Given the description of an element on the screen output the (x, y) to click on. 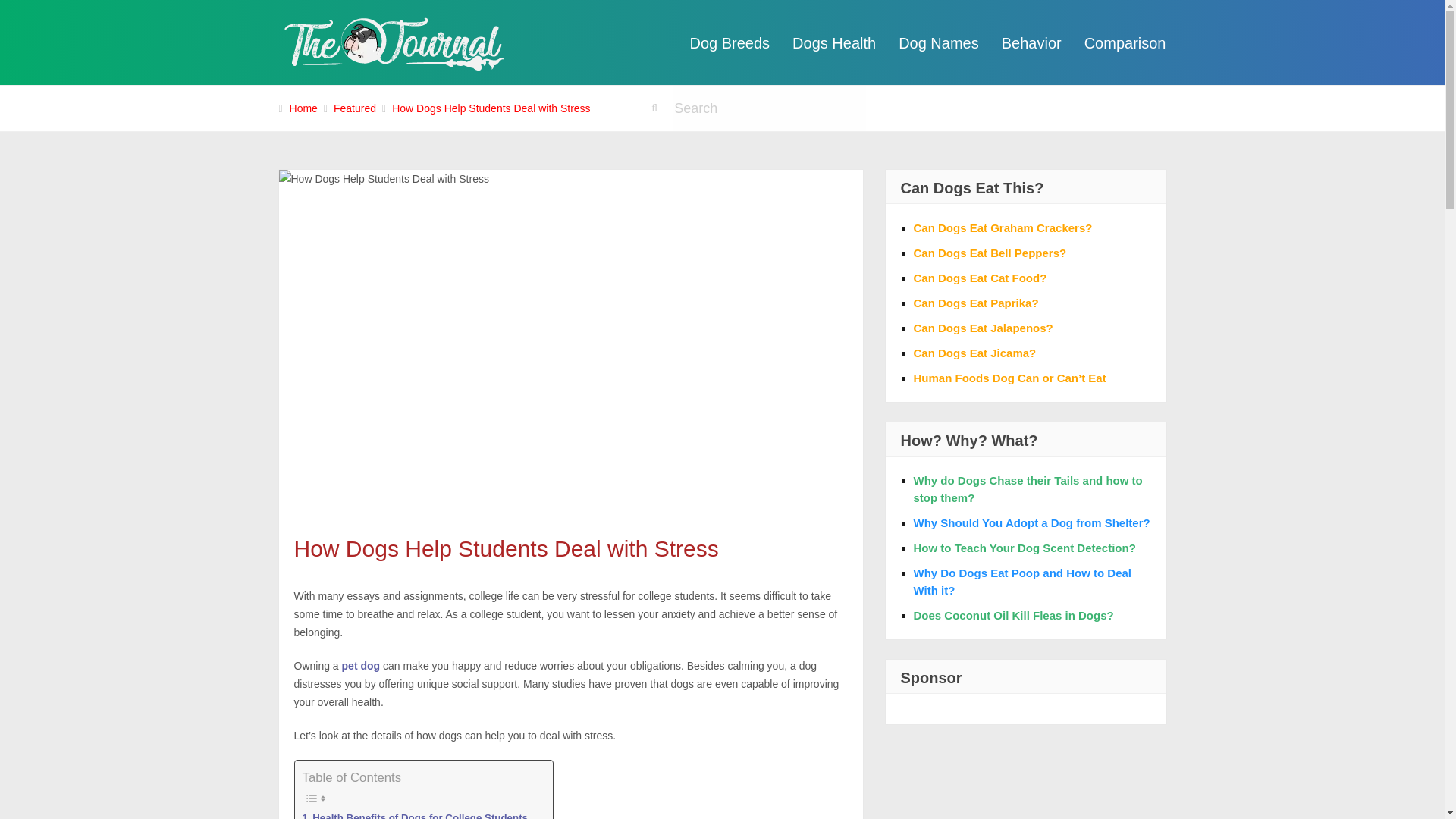
Featured (354, 108)
Dog Breeds (729, 43)
Home (303, 108)
Comparison (1125, 43)
Dog Names (938, 43)
Can Dogs Eat Paprika? (975, 302)
Why do Dogs Chase their Tails and how to stop them? (1026, 489)
pet dog (361, 665)
Dogs Health (834, 43)
Can Dogs Eat Graham Crackers? (1002, 227)
Can Dogs Eat Bell Peppers? (988, 252)
Health Benefits of Dogs for College Students (414, 814)
Can Dogs Eat Cat Food? (979, 277)
How to Teach Your Dog Scent Detection? (1023, 547)
